Given the description of an element on the screen output the (x, y) to click on. 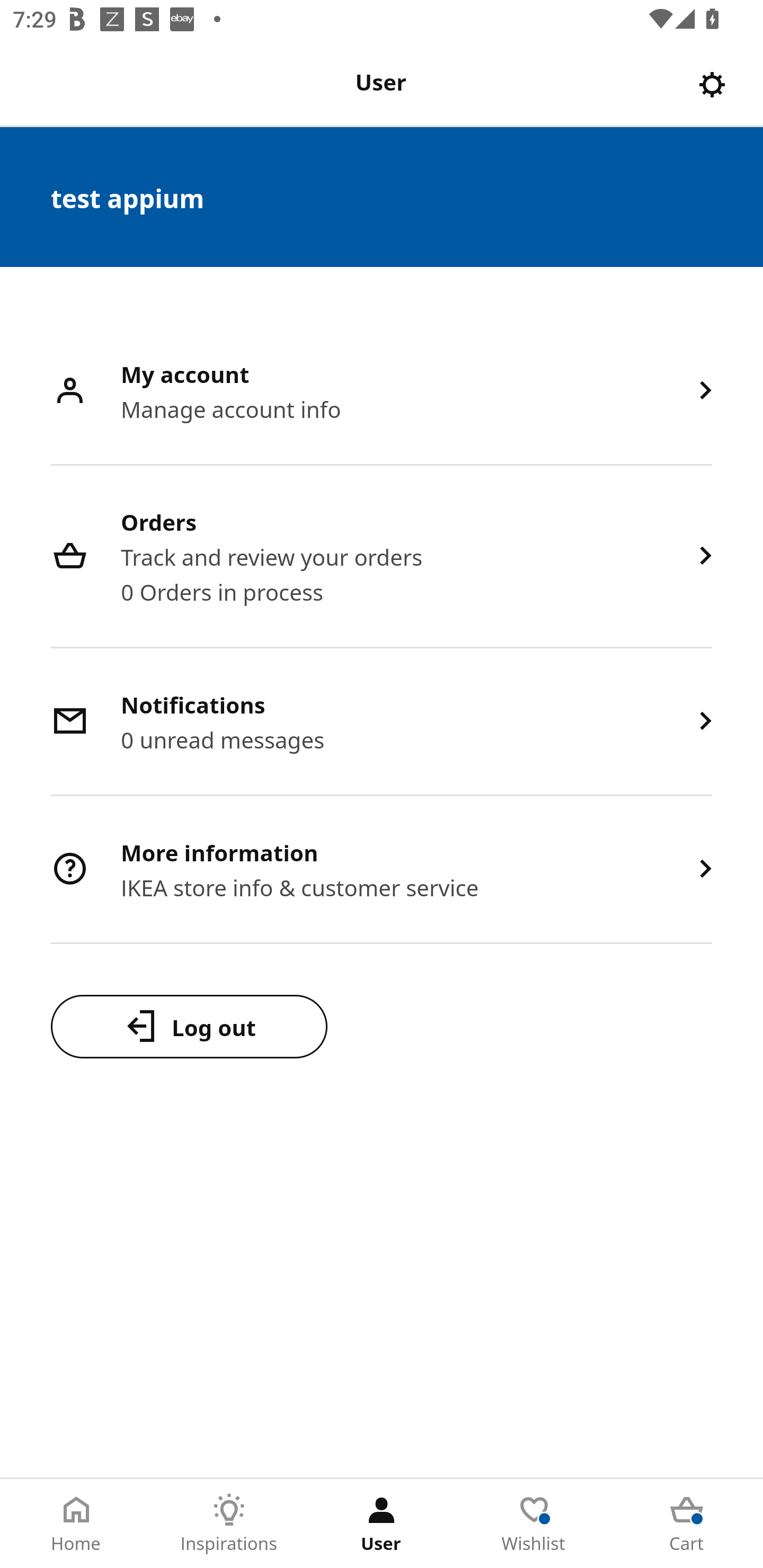
My account
Manage account info (381, 391)
Notifications
0 unread messages (381, 722)
Log out (189, 1026)
Home
Tab 1 of 5 (76, 1522)
Inspirations
Tab 2 of 5 (228, 1522)
User
Tab 3 of 5 (381, 1522)
Wishlist
Tab 4 of 5 (533, 1522)
Cart
Tab 5 of 5 (686, 1522)
